Given the description of an element on the screen output the (x, y) to click on. 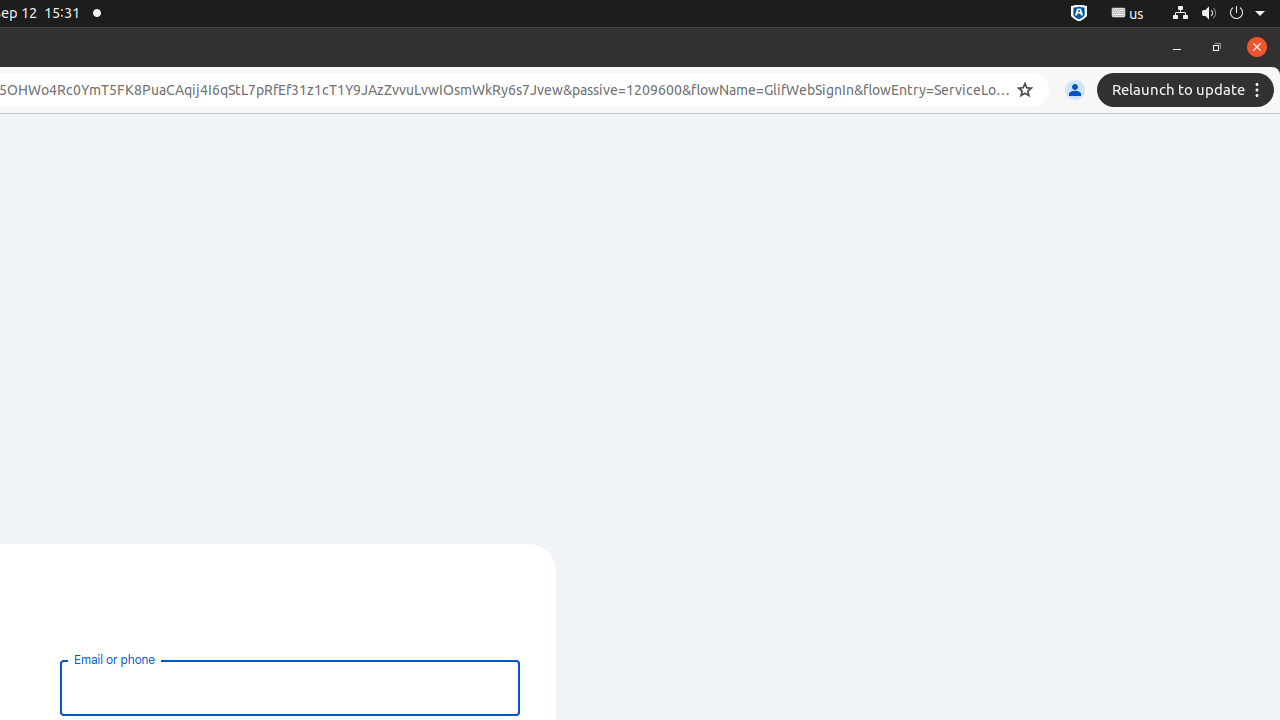
System Element type: menu (1218, 13)
:1.72/StatusNotifierItem Element type: menu (1079, 13)
:1.21/StatusNotifierItem Element type: menu (1127, 13)
You Element type: push-button (1075, 90)
Bookmark this tab Element type: push-button (1025, 90)
